Given the description of an element on the screen output the (x, y) to click on. 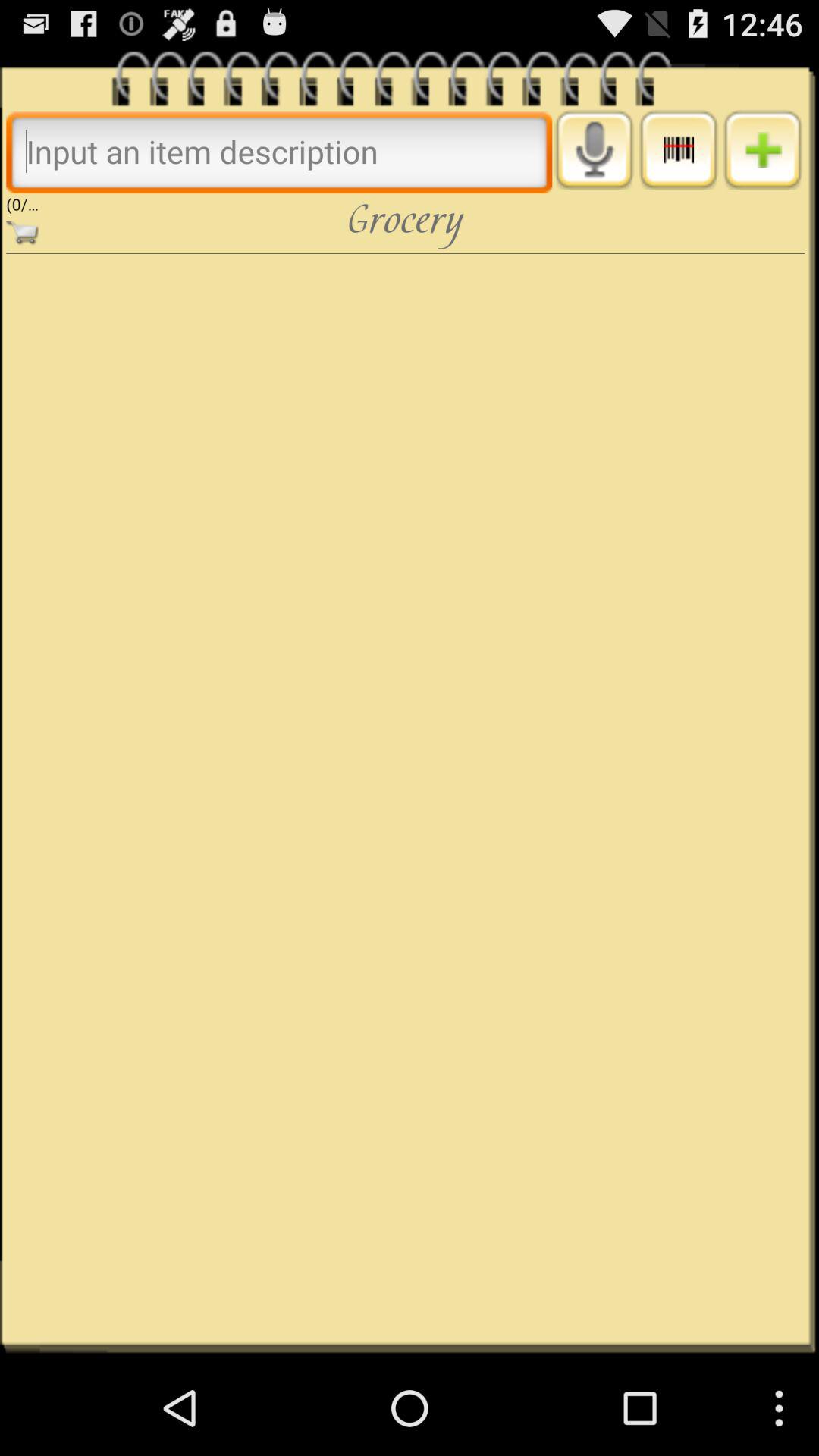
scan barcode (678, 149)
